Given the description of an element on the screen output the (x, y) to click on. 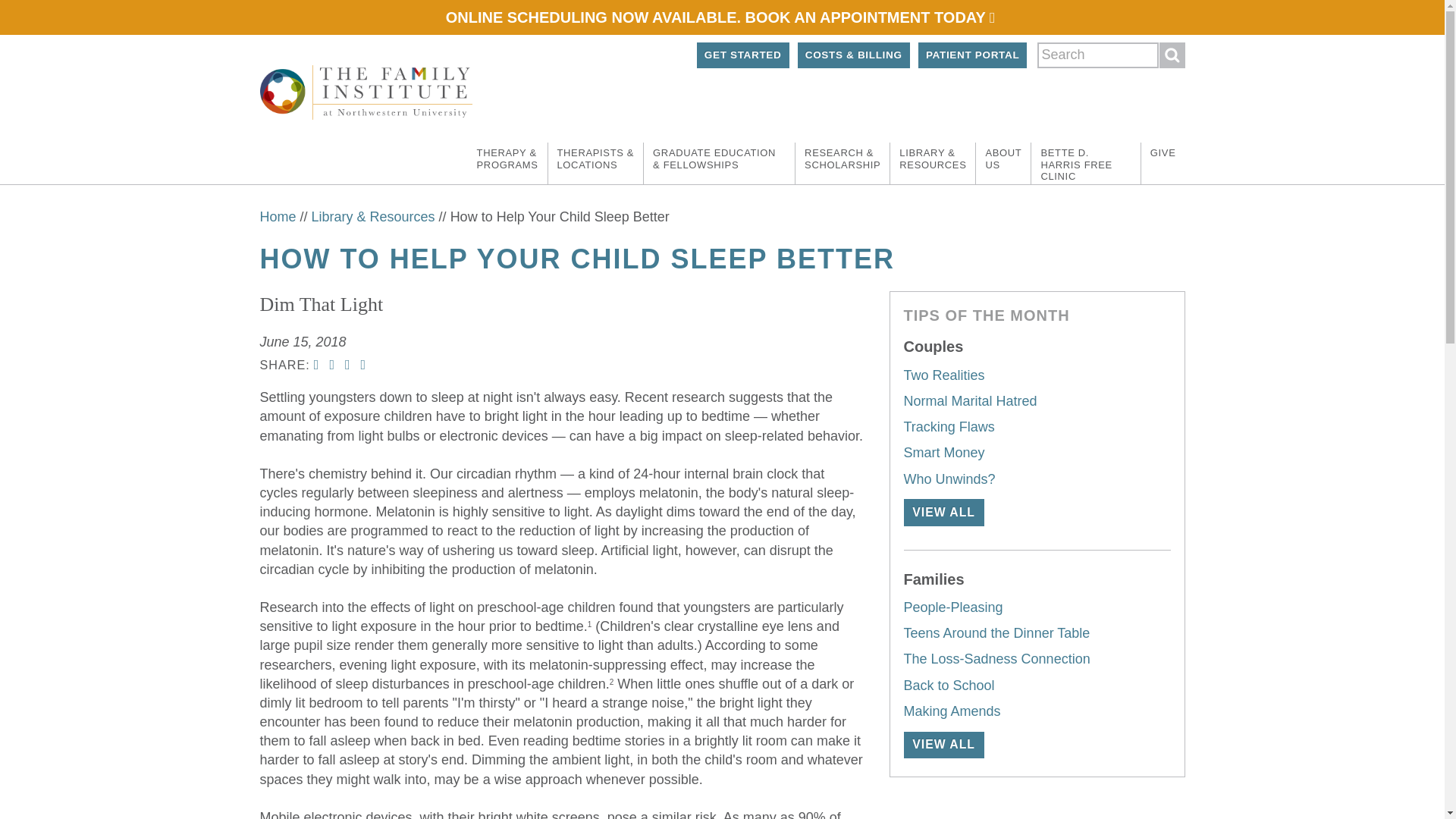
Enter the terms you wish to search for. (1097, 54)
ONLINE SCHEDULING NOW AVAILABLE. BOOK AN APPOINTMENT TODAY   (721, 17)
GET STARTED (743, 54)
Search (1171, 54)
Search (1171, 54)
PATIENT PORTAL (972, 54)
